Given the description of an element on the screen output the (x, y) to click on. 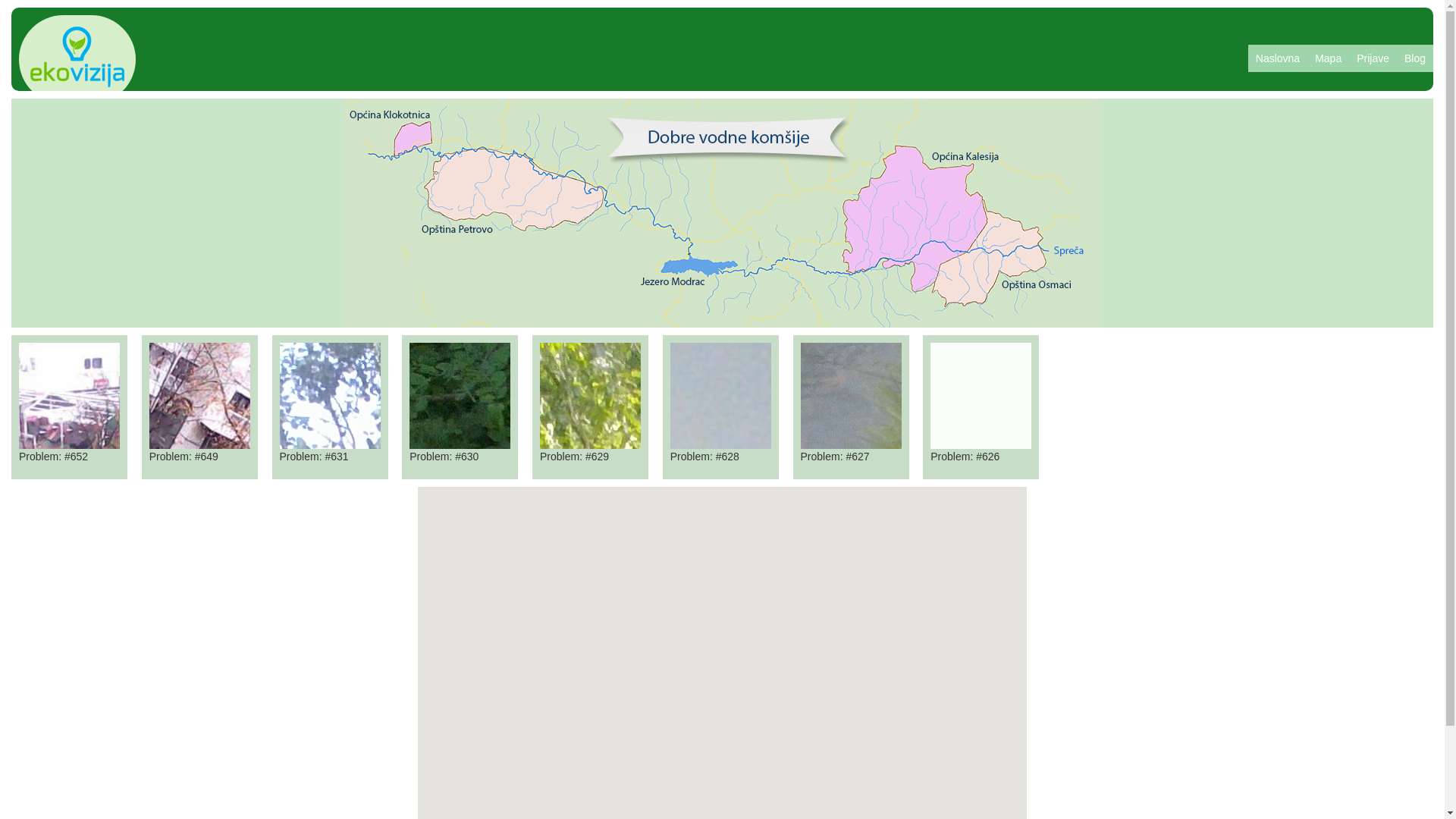
Blog Element type: text (1414, 58)
Naslovna Element type: text (1277, 58)
Prijave Element type: text (1372, 58)
Mapa Element type: text (1328, 58)
